Given the description of an element on the screen output the (x, y) to click on. 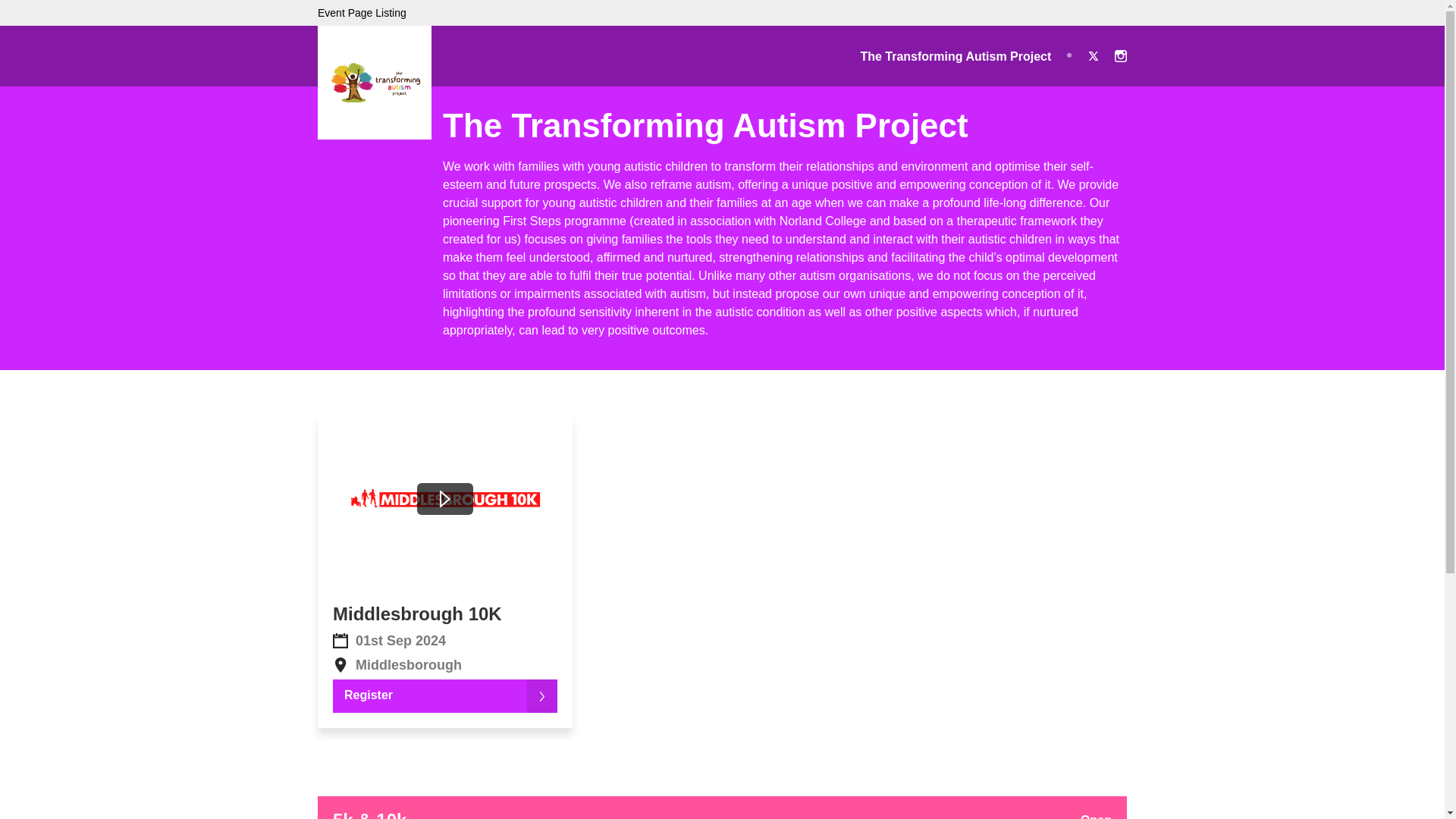
Instagram (1120, 55)
Register (445, 695)
Twitter (1093, 55)
Middlesbrough 10K (417, 613)
